Given the description of an element on the screen output the (x, y) to click on. 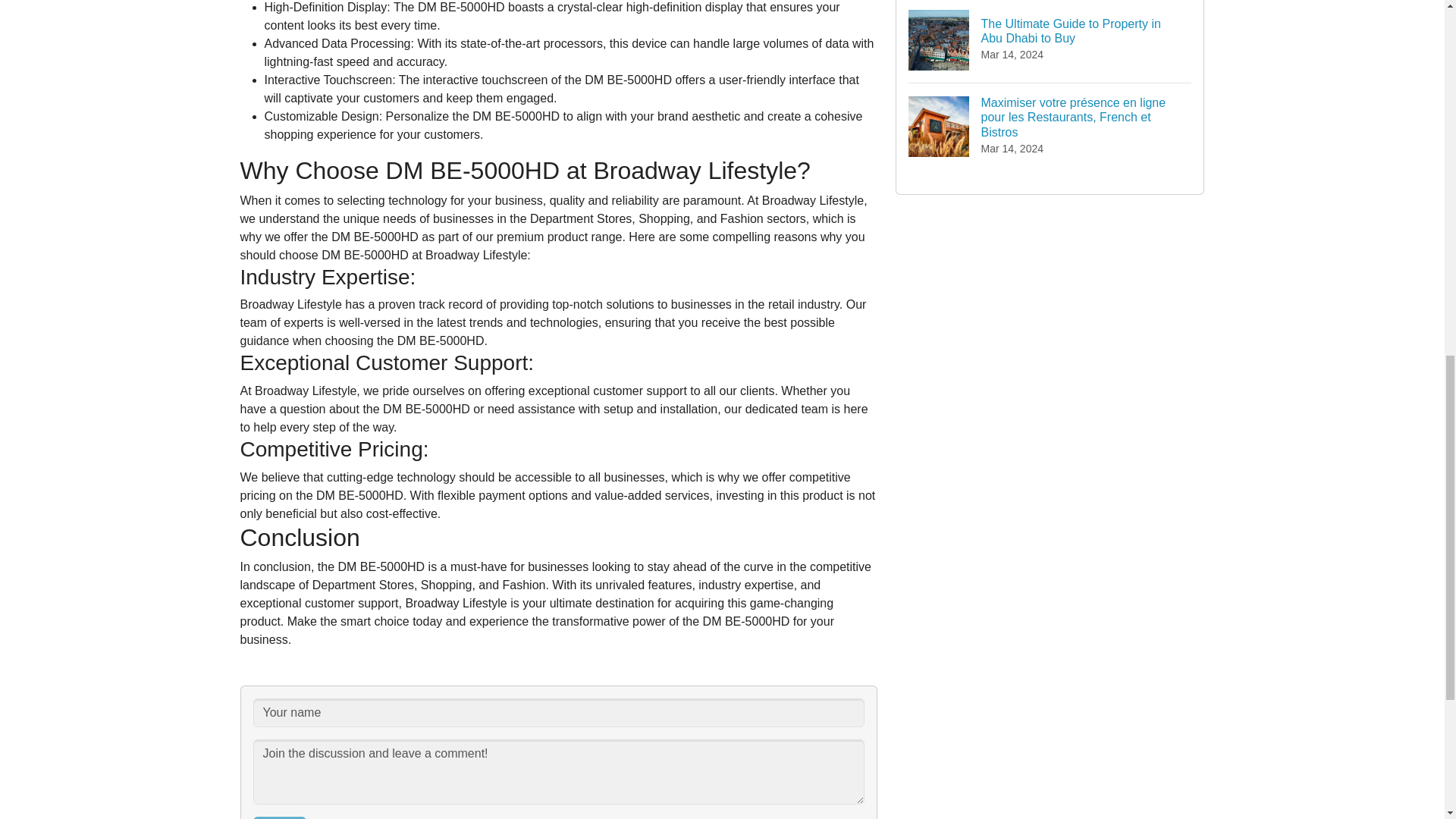
Send (279, 817)
Send (279, 817)
